Given the description of an element on the screen output the (x, y) to click on. 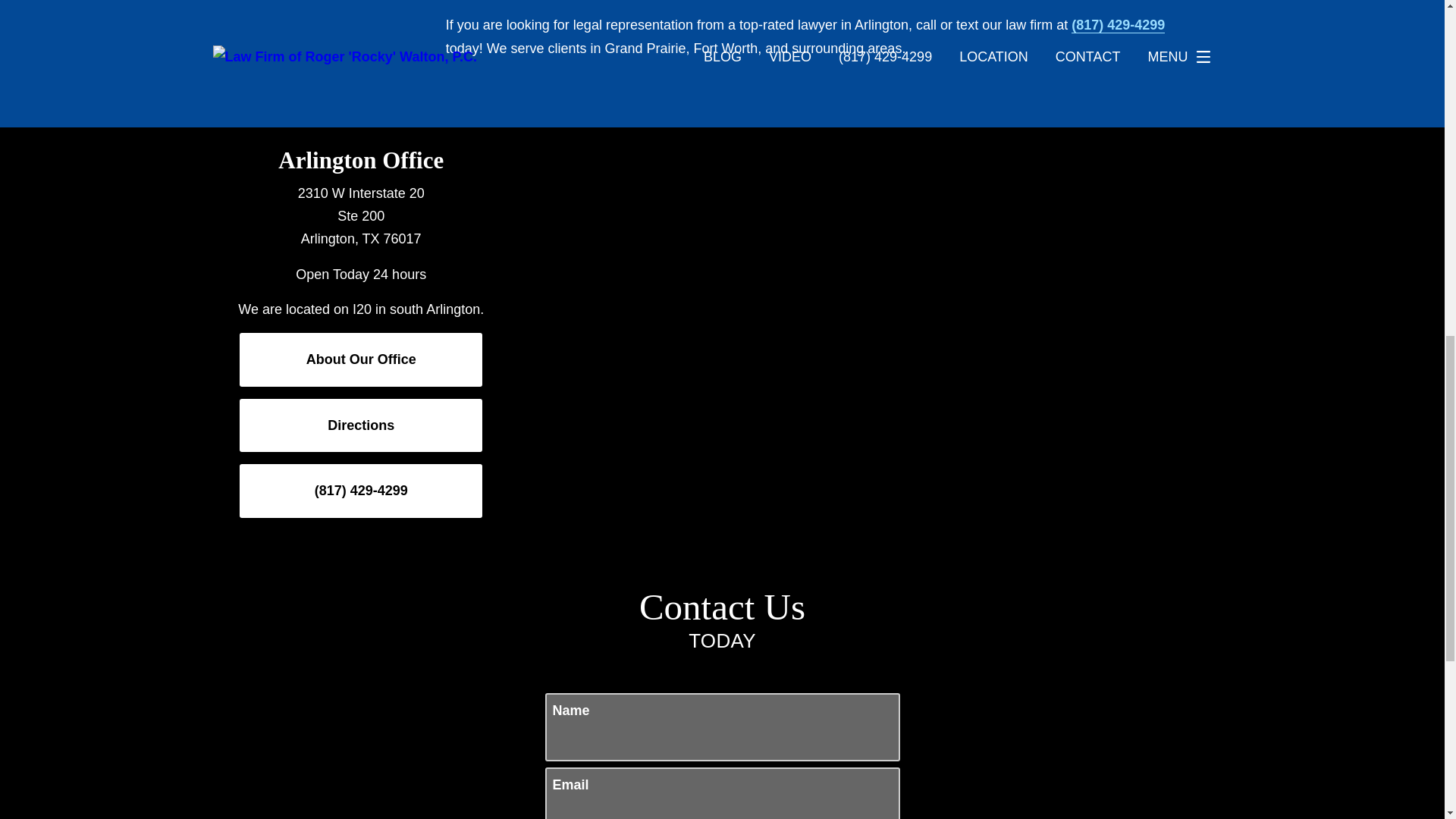
Locations (1026, 138)
Directions (360, 425)
Arlington Office (361, 160)
About Our Office (360, 358)
